Given the description of an element on the screen output the (x, y) to click on. 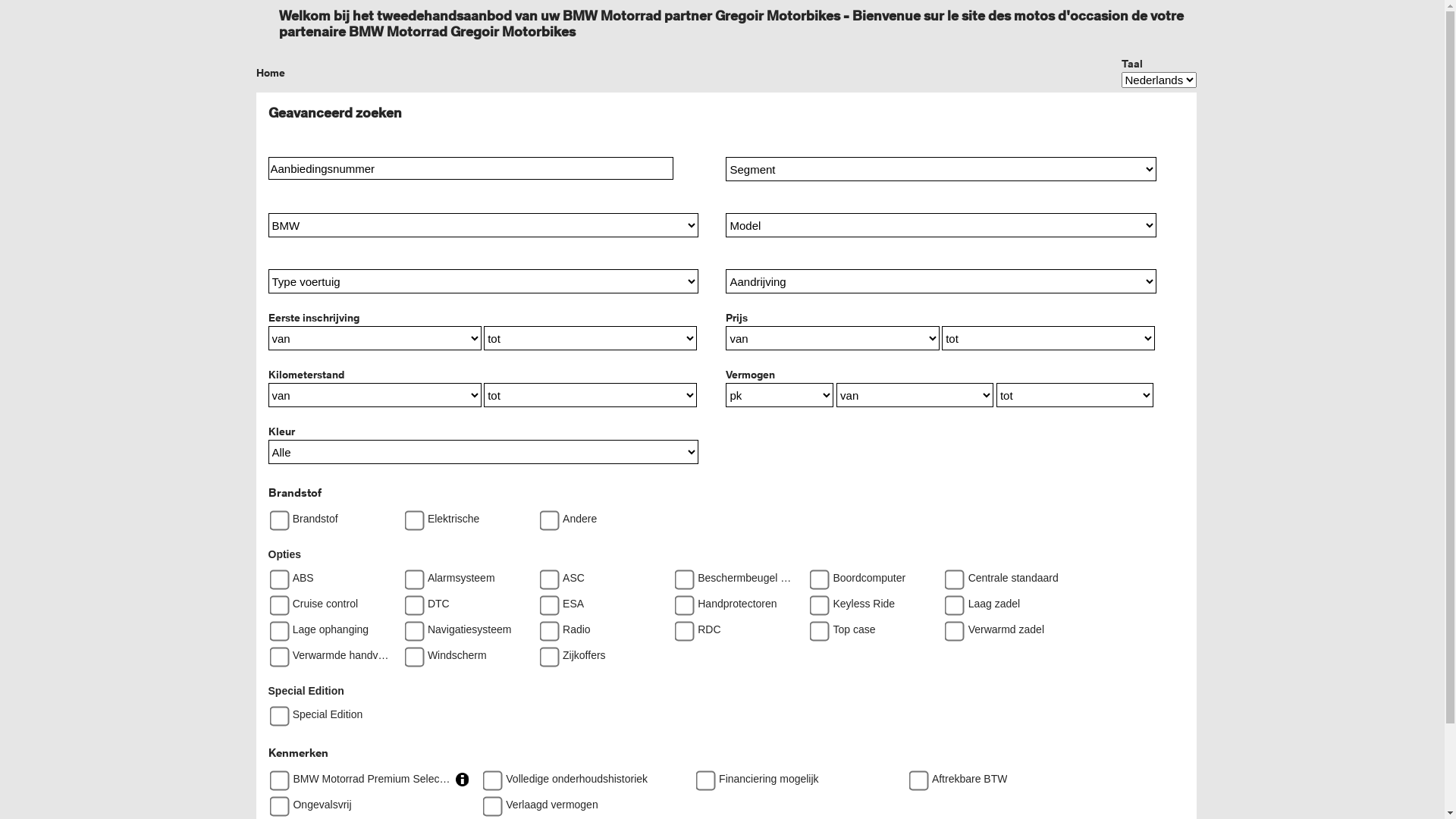
ASC Element type: hover (544, 574)
ESA Element type: hover (544, 599)
Centrale standaard Element type: hover (949, 574)
Beschermbeugel motorblok Element type: hover (679, 574)
Cruise control Element type: hover (274, 599)
Laag zadel Element type: hover (949, 599)
DTC Element type: hover (409, 599)
Zijkoffers Element type: hover (544, 651)
Windscherm Element type: hover (409, 651)
Andere Element type: hover (544, 514)
Verwarmde handvaten Element type: hover (274, 651)
ABS Element type: hover (274, 574)
Boordcomputer Element type: hover (814, 574)
Home Element type: text (270, 72)
Alarmsysteem Element type: hover (409, 574)
Radio Element type: hover (544, 625)
Handprotectoren Element type: hover (679, 599)
Keyless Ride Element type: hover (814, 599)
Elektrische Element type: hover (409, 514)
RDC Element type: hover (679, 625)
Lage ophanging Element type: hover (274, 625)
Navigatiesysteem Element type: hover (409, 625)
Verwarmd zadel Element type: hover (949, 625)
Top case Element type: hover (814, 625)
Brandstof Element type: hover (274, 514)
